Given the description of an element on the screen output the (x, y) to click on. 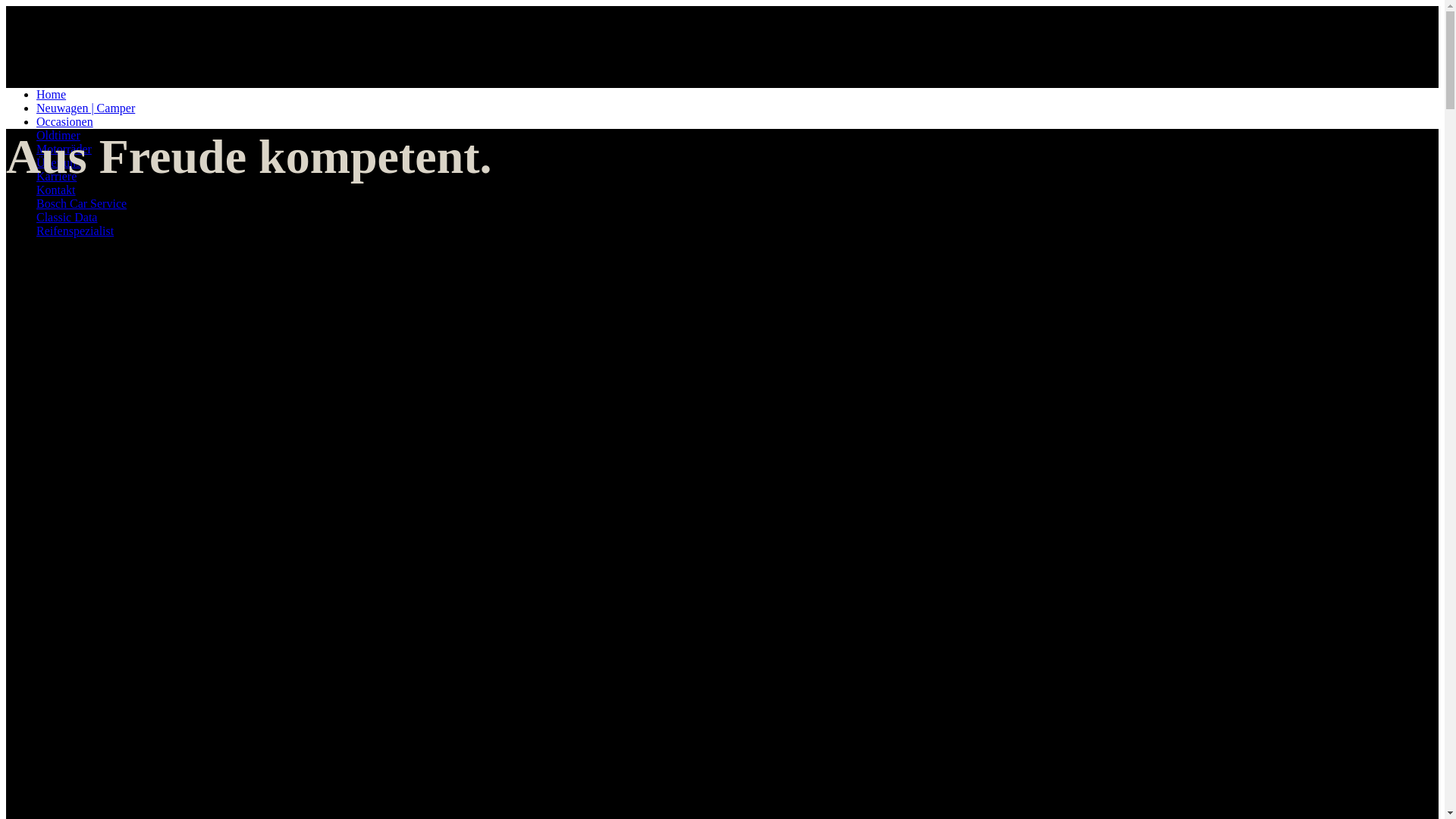
Karriere Element type: text (56, 175)
Neuwagen | Camper Element type: text (85, 107)
Kontakt Element type: text (55, 189)
Occasionen Element type: text (64, 121)
Reifenspezialist Element type: text (74, 230)
Bosch Car Service Element type: text (81, 203)
Home Element type: text (50, 93)
Classic Data Element type: text (66, 216)
Oldtimer Element type: text (58, 134)
